Given the description of an element on the screen output the (x, y) to click on. 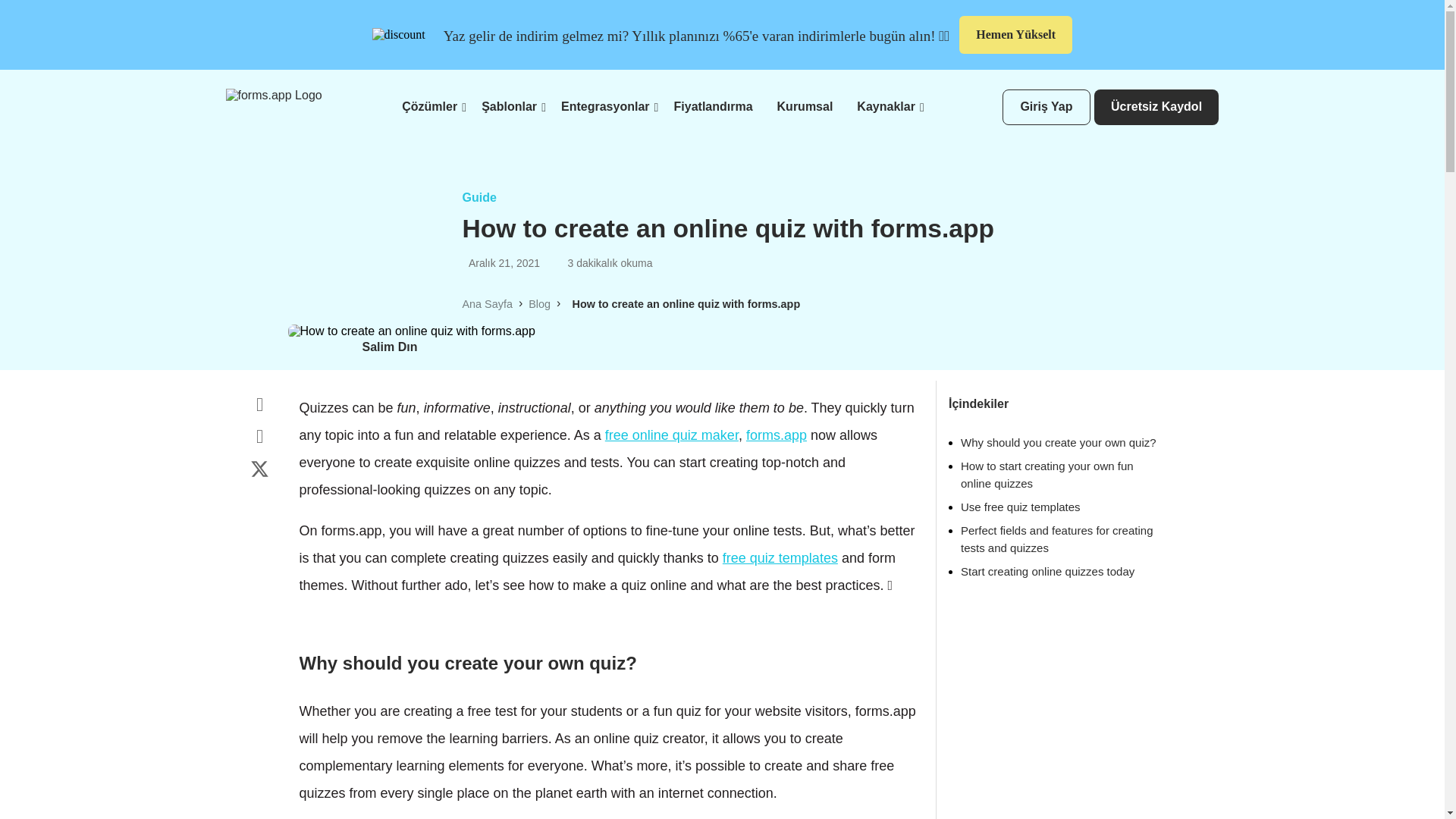
Start creating online quizzes today (1047, 571)
Kurumsal (804, 106)
How to start creating your own fun online quizzes (1047, 474)
Use free quiz templates (1020, 506)
Why should you create your own quiz? (1058, 441)
Perfect fields and features for creating tests and quizzes (1056, 539)
